Given the description of an element on the screen output the (x, y) to click on. 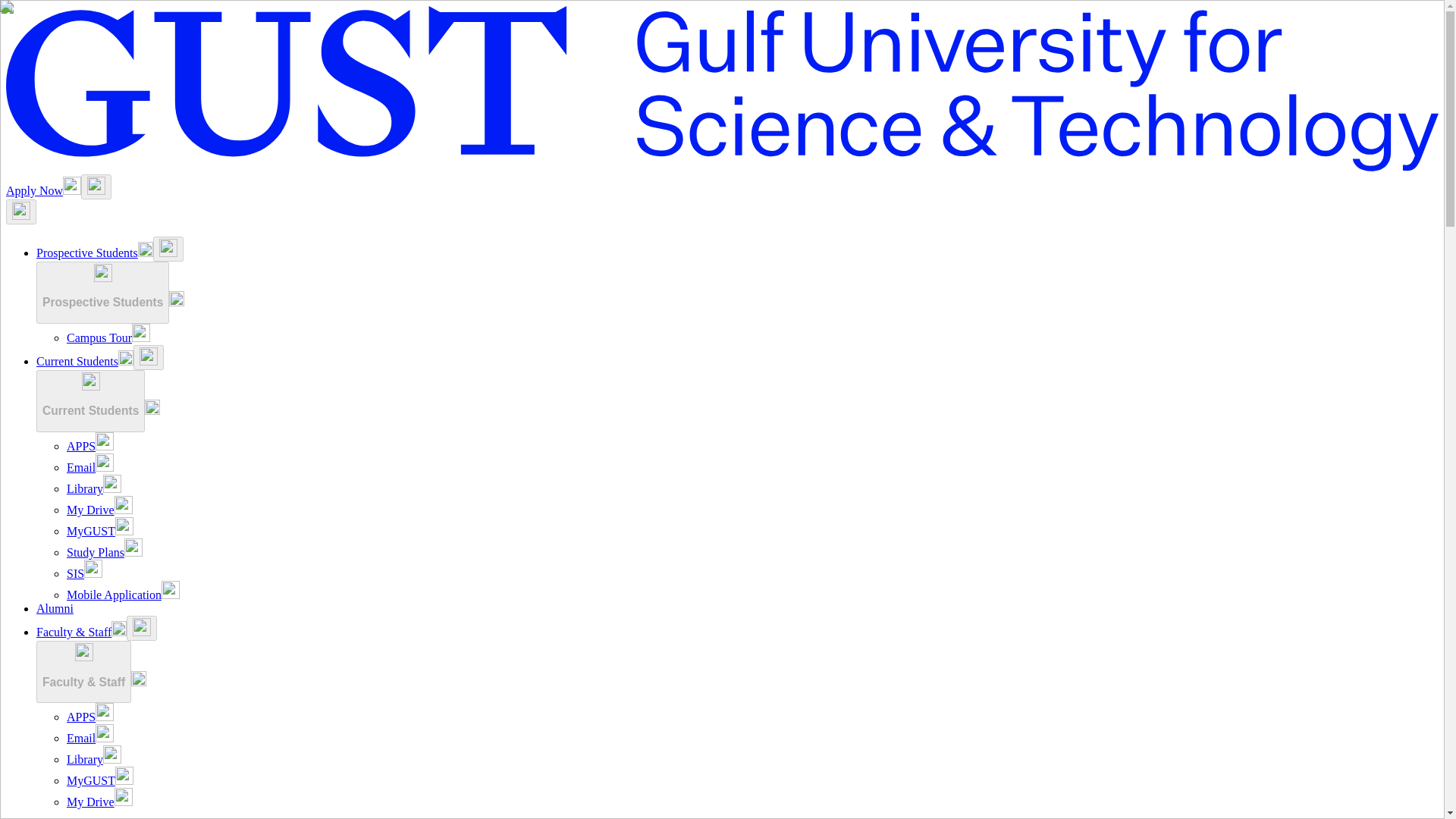
My Drive (99, 509)
Email (89, 467)
Library (93, 758)
Campus Tour (107, 337)
Current Students (90, 401)
Alumni (55, 608)
Prospective Students (102, 292)
MyGUST (99, 780)
Apply Now (43, 190)
MyGUST (99, 530)
